Given the description of an element on the screen output the (x, y) to click on. 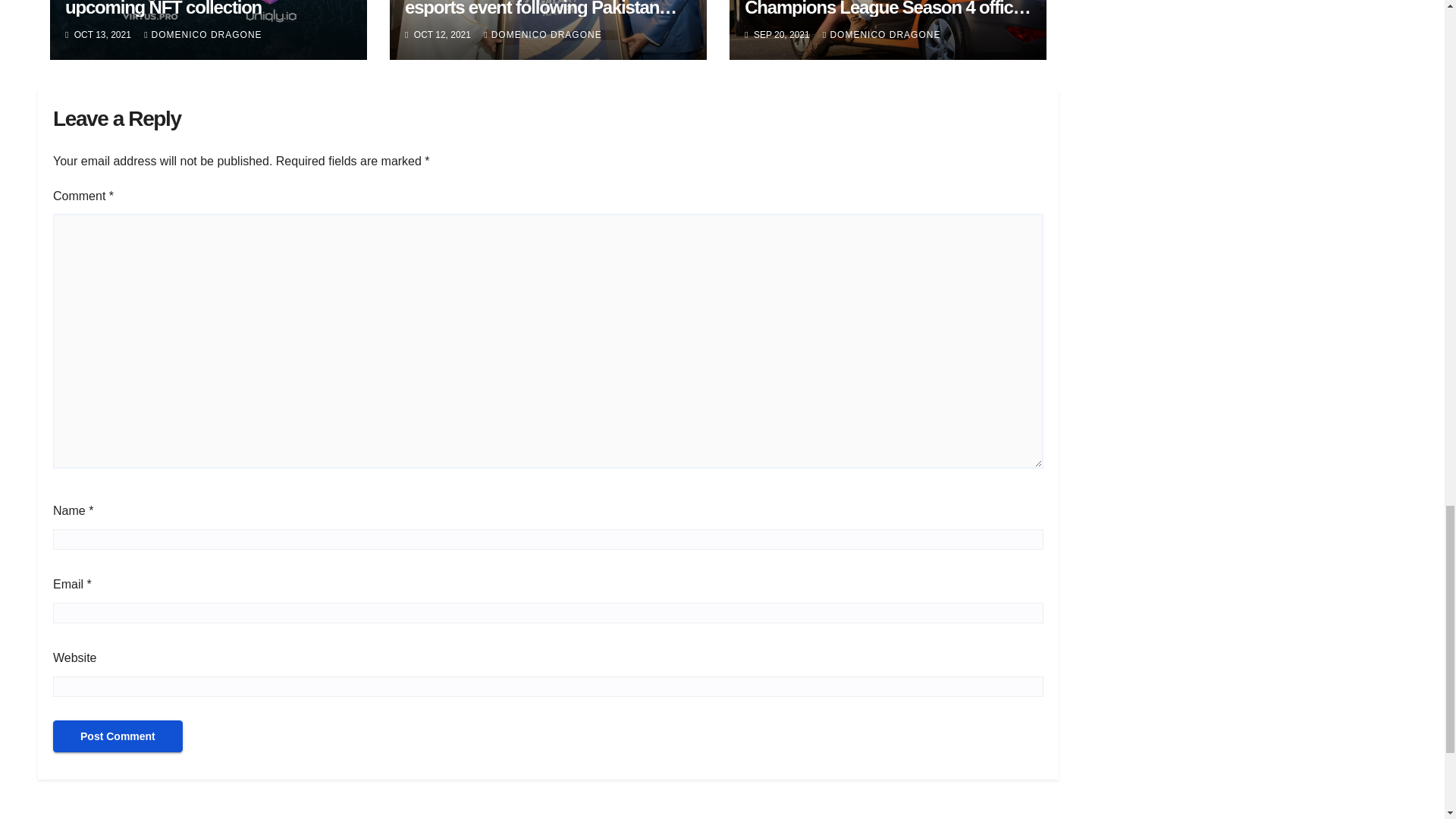
Post Comment (117, 736)
